Given the description of an element on the screen output the (x, y) to click on. 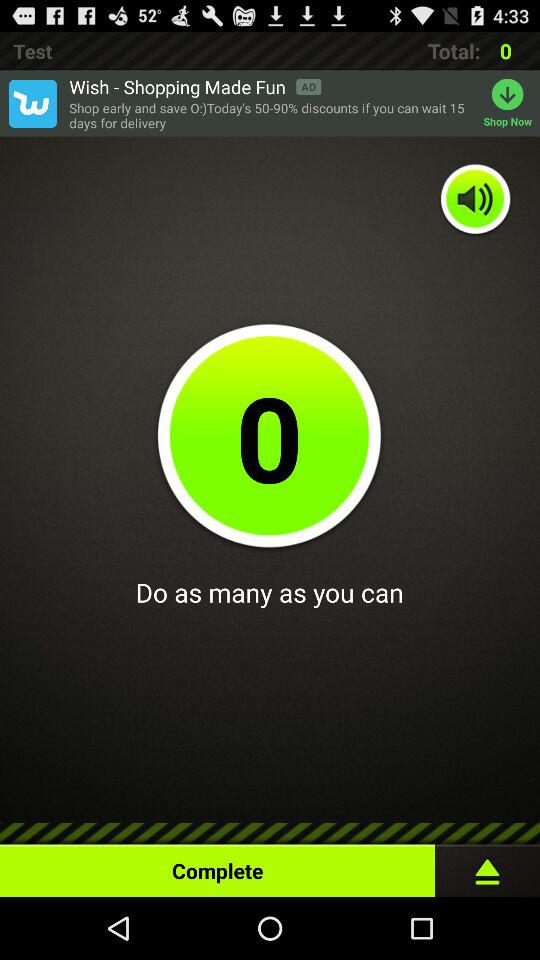
open app below the shop early and (475, 200)
